Given the description of an element on the screen output the (x, y) to click on. 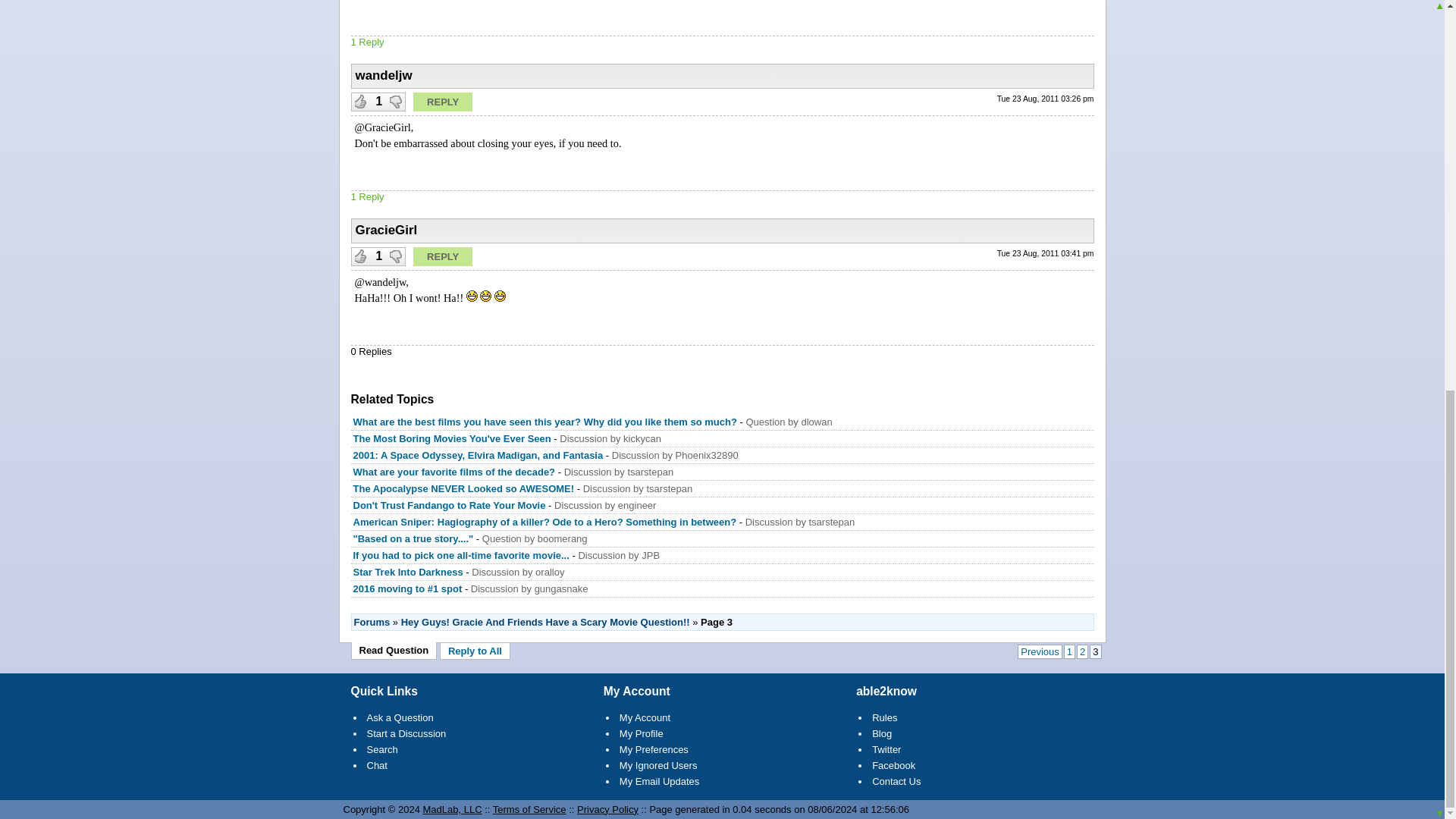
If you had to pick one all-time favorite movie... (461, 555)
Hey Guys! Gracie And Friends Have a Scary Movie Question!! (545, 622)
Star Trek Into Darkness (408, 572)
"Based on a true story...." (413, 538)
Don't Trust Fandango to Rate Your Movie (449, 505)
The Most Boring Movies You've Ever Seen (452, 438)
The Apocalypse NEVER Looked so AWESOME! (464, 488)
What are your favorite films of the decade? (454, 471)
